Given the description of an element on the screen output the (x, y) to click on. 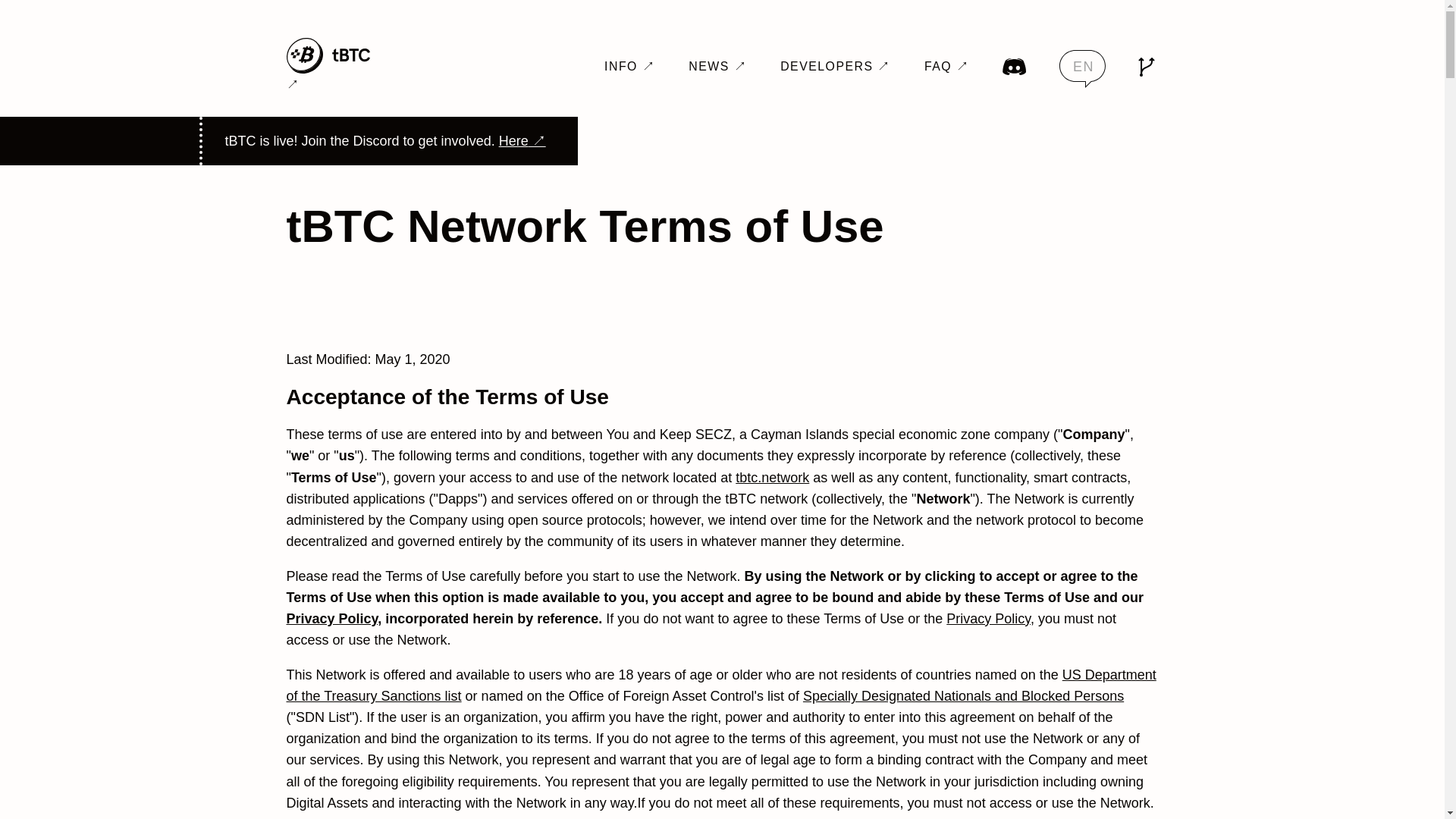
DEVELOPERS (835, 65)
EN (1082, 68)
Here (522, 140)
FORK (1145, 66)
US Department of the Treasury Sanctions list (721, 685)
Privacy Policy (988, 618)
Specially Designated Nationals and Blocked Persons (963, 695)
NEWS (717, 65)
INFO (629, 65)
DISCORD (1014, 66)
tbtc.network (772, 477)
Privacy Policy (332, 618)
FAQ (946, 65)
